Given the description of an element on the screen output the (x, y) to click on. 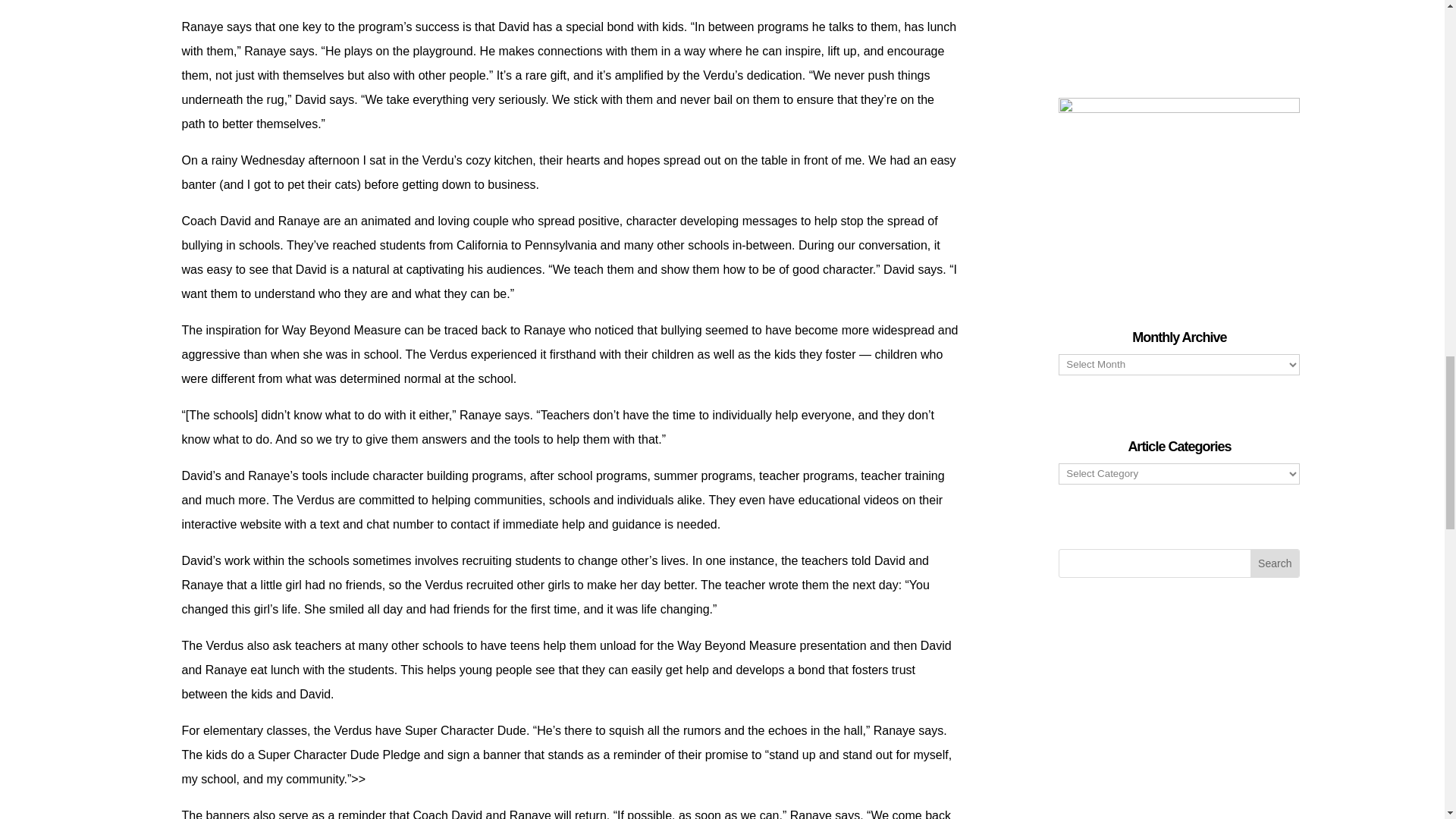
Search (1274, 563)
Search (1274, 563)
Search (1274, 563)
